Given the description of an element on the screen output the (x, y) to click on. 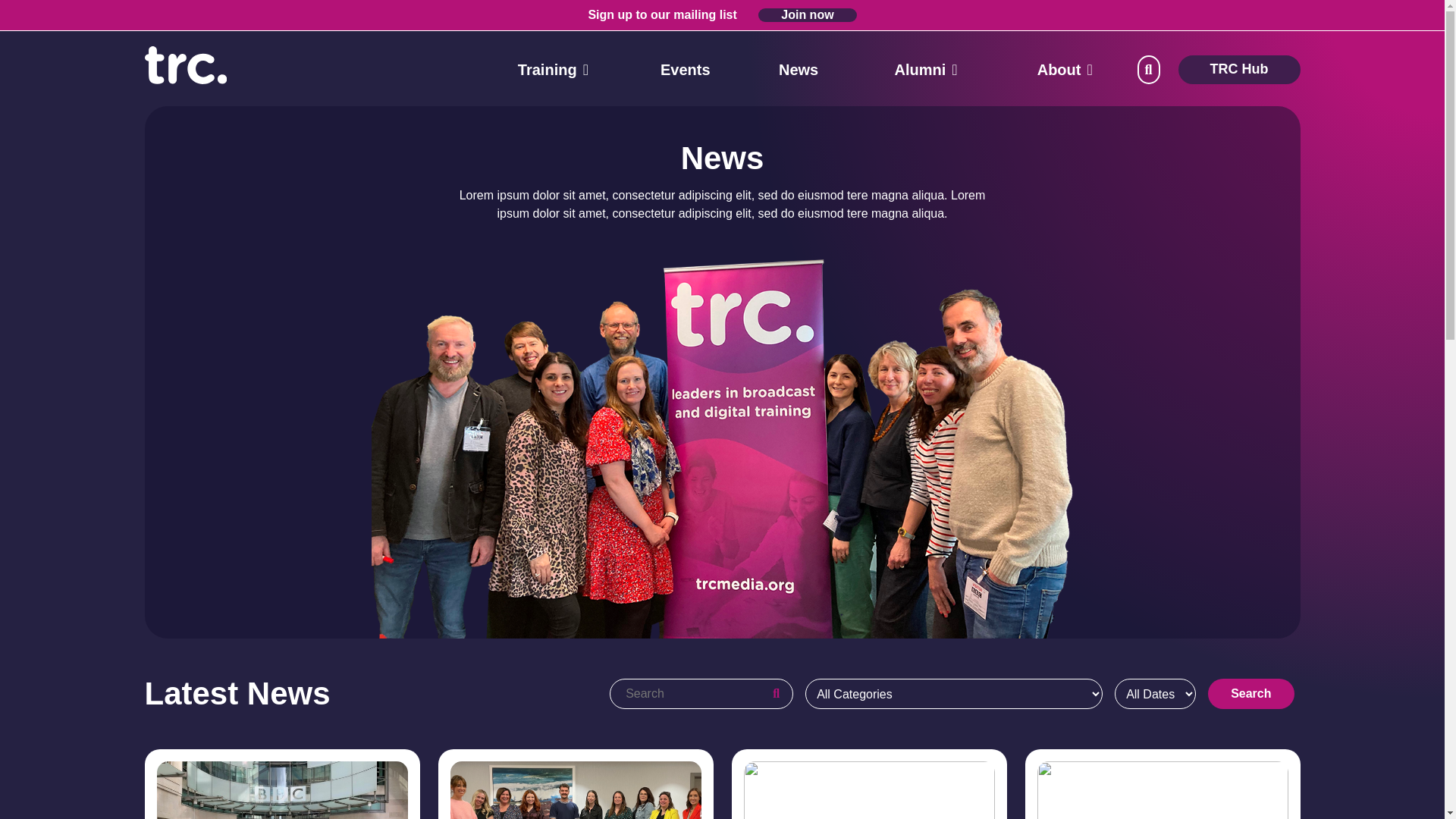
Events (685, 69)
Join now (807, 15)
TRC Media home page (184, 63)
News (798, 69)
Search (20, 10)
Training (547, 69)
Alumni (920, 69)
TRC Hub (1238, 69)
